Given the description of an element on the screen output the (x, y) to click on. 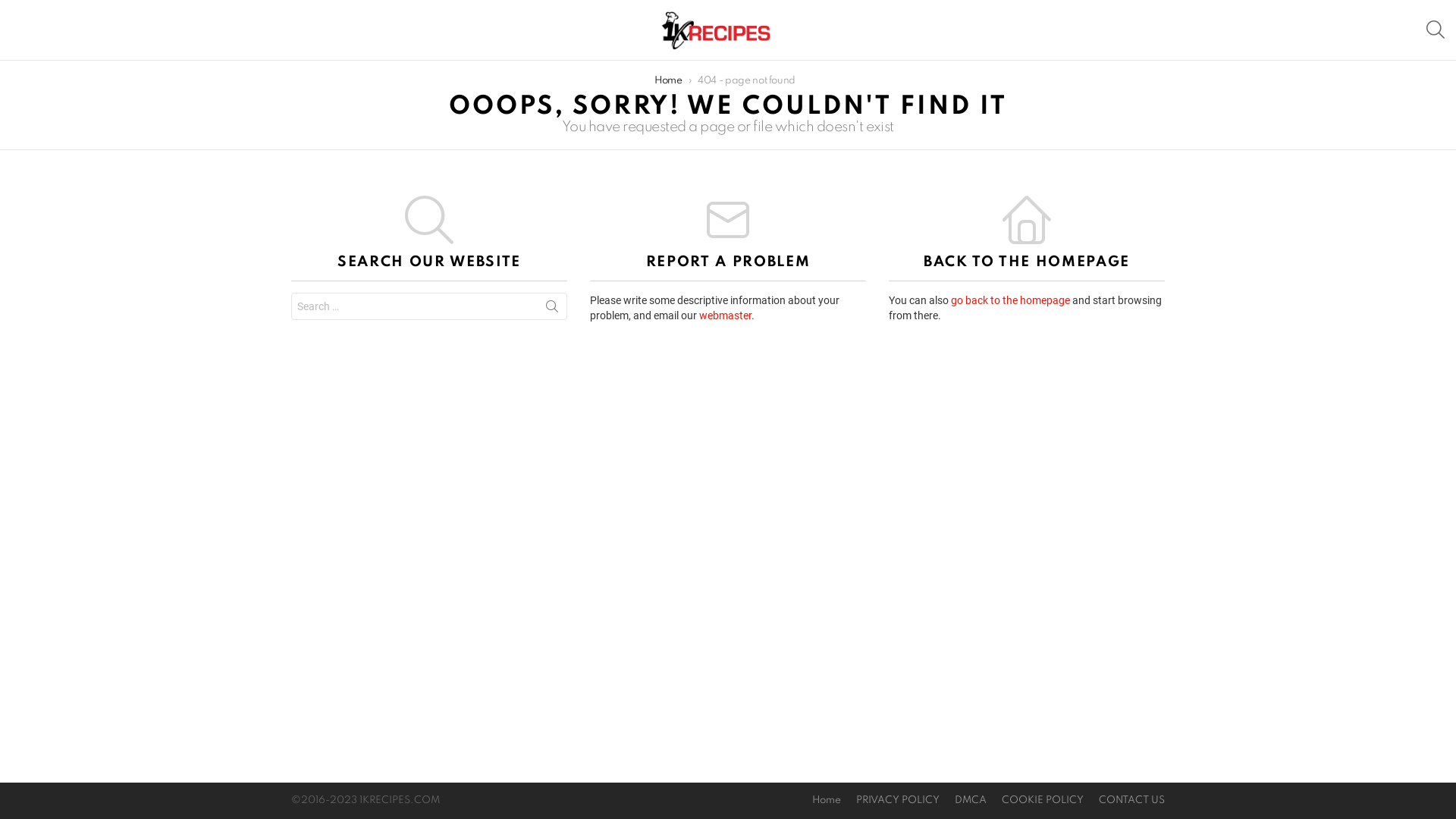
SEARCH Element type: text (1435, 29)
COOKIE POLICY Element type: text (1042, 800)
CONTACT US Element type: text (1131, 800)
Search for: Element type: hover (429, 306)
webmaster Element type: text (725, 315)
PRIVACY POLICY Element type: text (897, 800)
SEARCH Element type: text (551, 309)
DMCA Element type: text (970, 800)
Home Element type: text (668, 80)
Home Element type: text (826, 800)
go back to the homepage Element type: text (1010, 300)
